Given the description of an element on the screen output the (x, y) to click on. 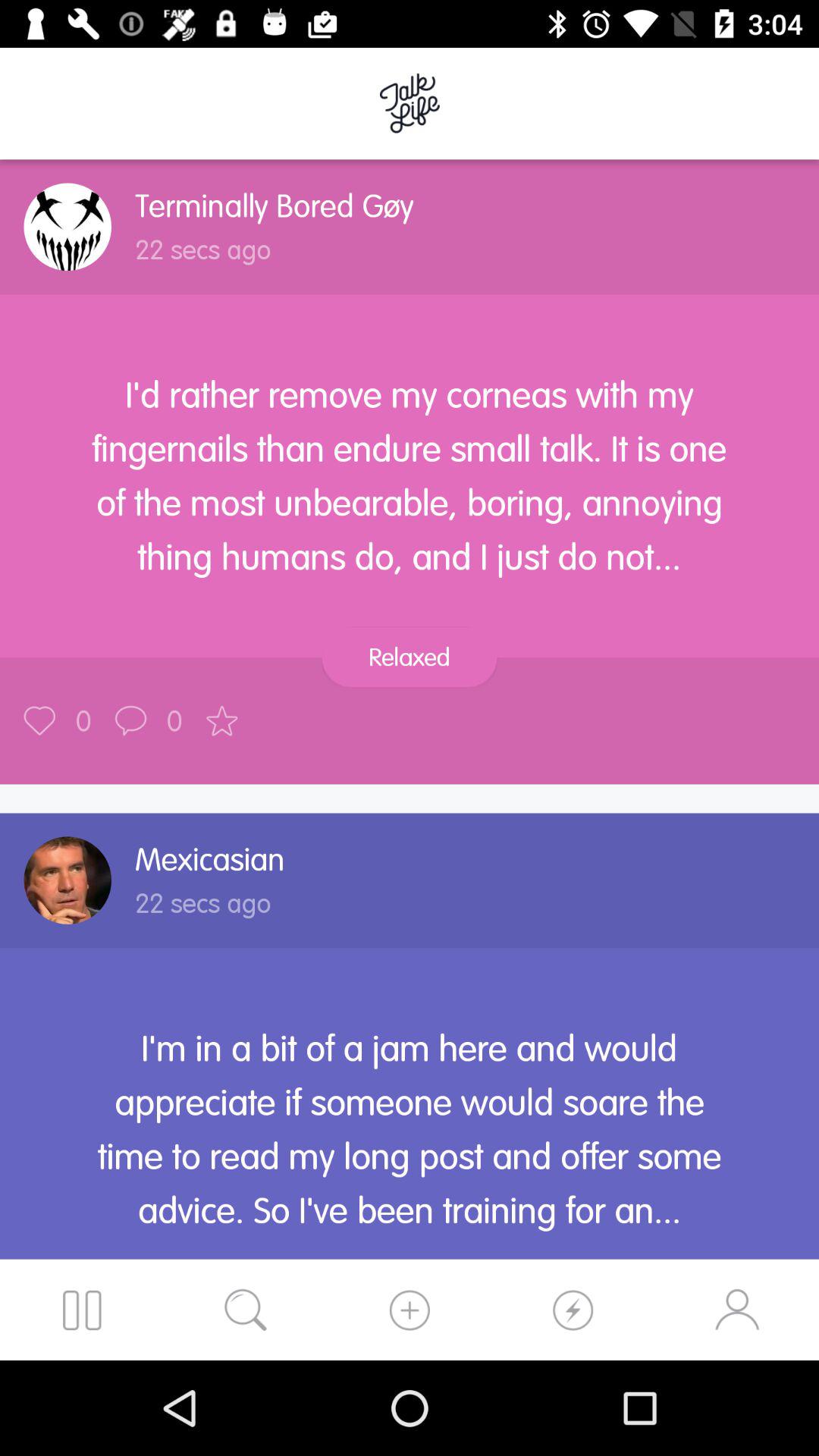
select profile (67, 880)
